Given the description of an element on the screen output the (x, y) to click on. 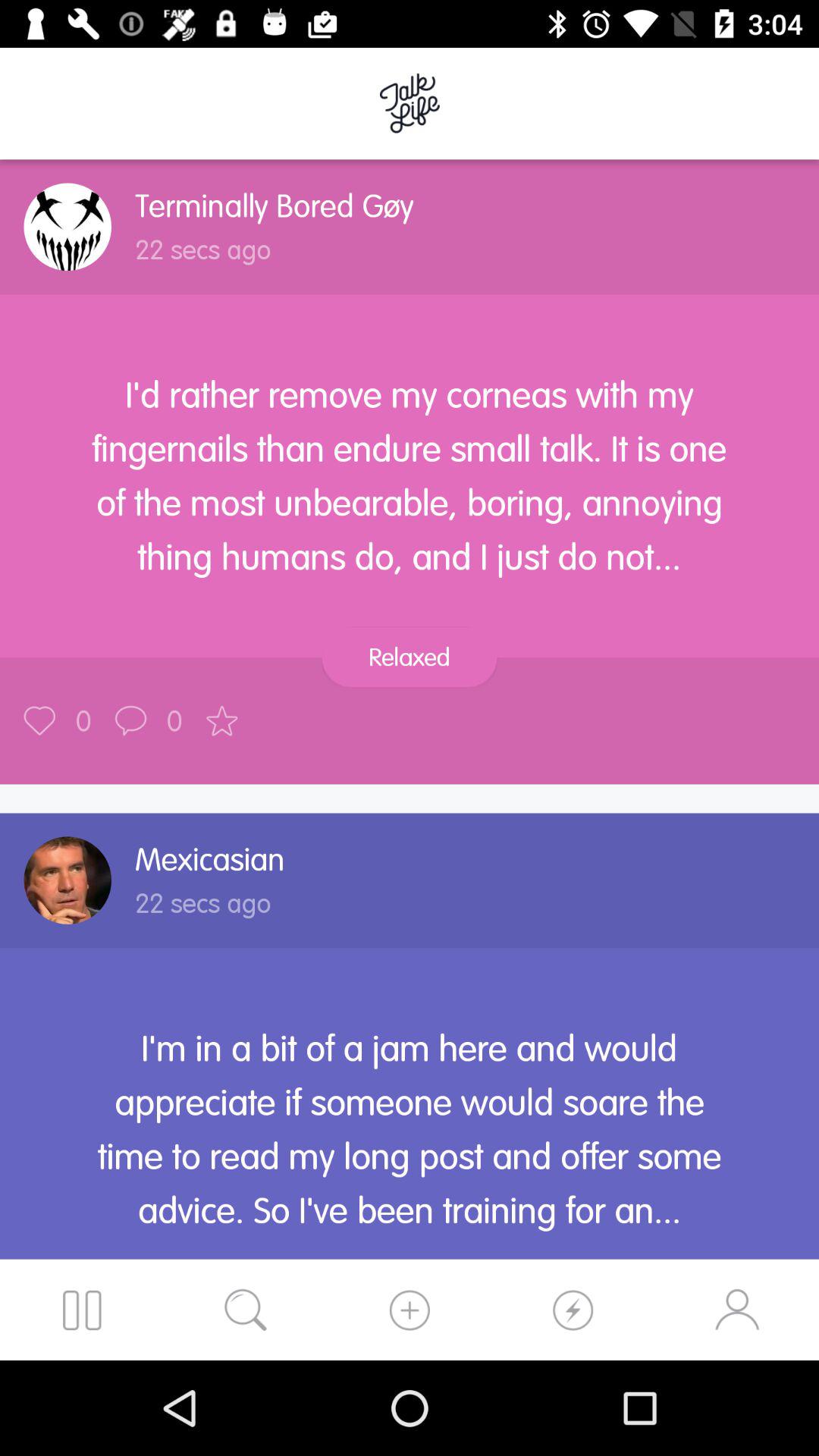
select profile (67, 880)
